Given the description of an element on the screen output the (x, y) to click on. 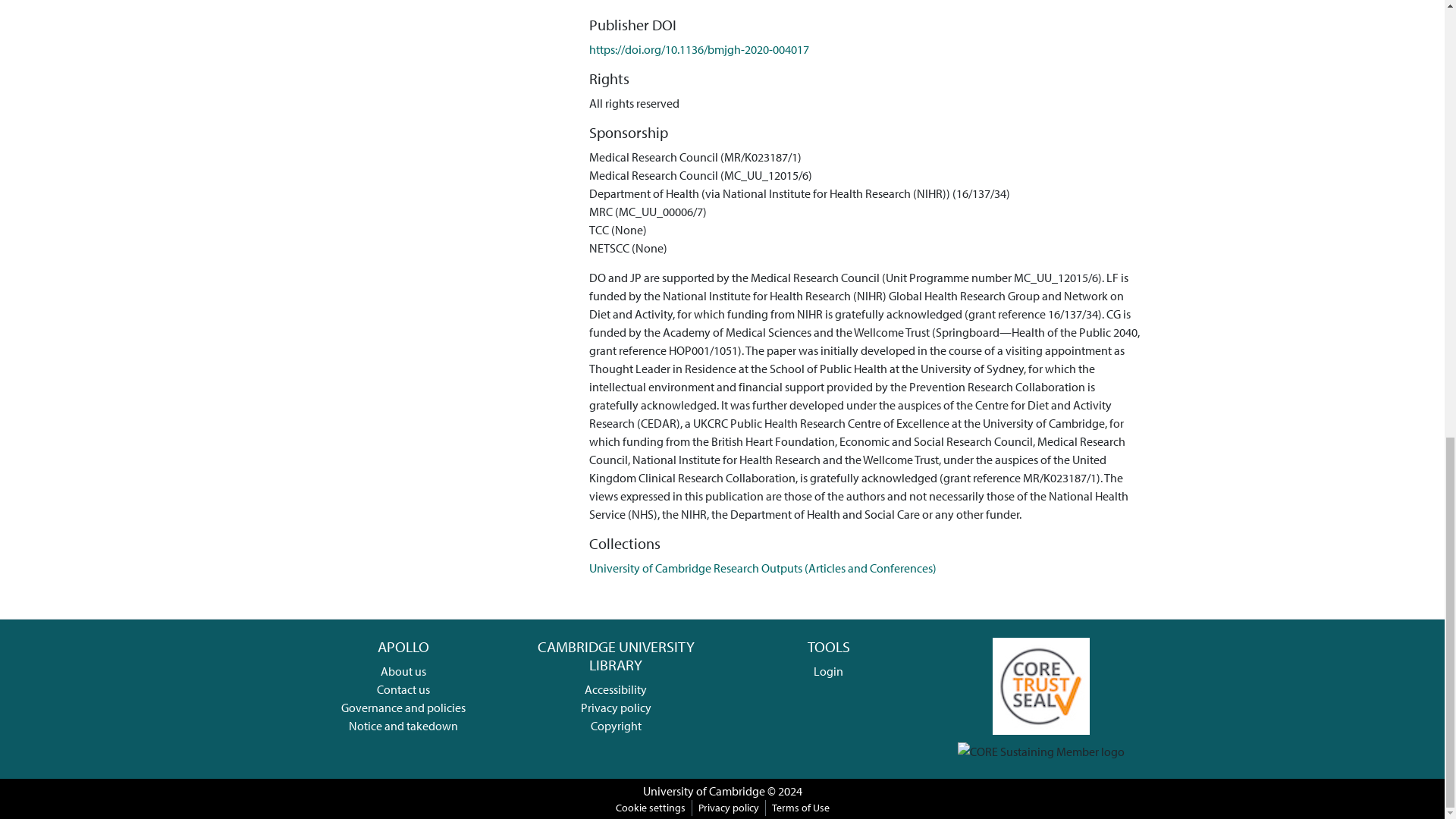
Contact us (403, 688)
Notice and takedown (403, 725)
Apollo CTS full application (1040, 684)
Accessibility (615, 688)
Governance and policies (402, 707)
Privacy policy (615, 707)
About us (403, 670)
